Given the description of an element on the screen output the (x, y) to click on. 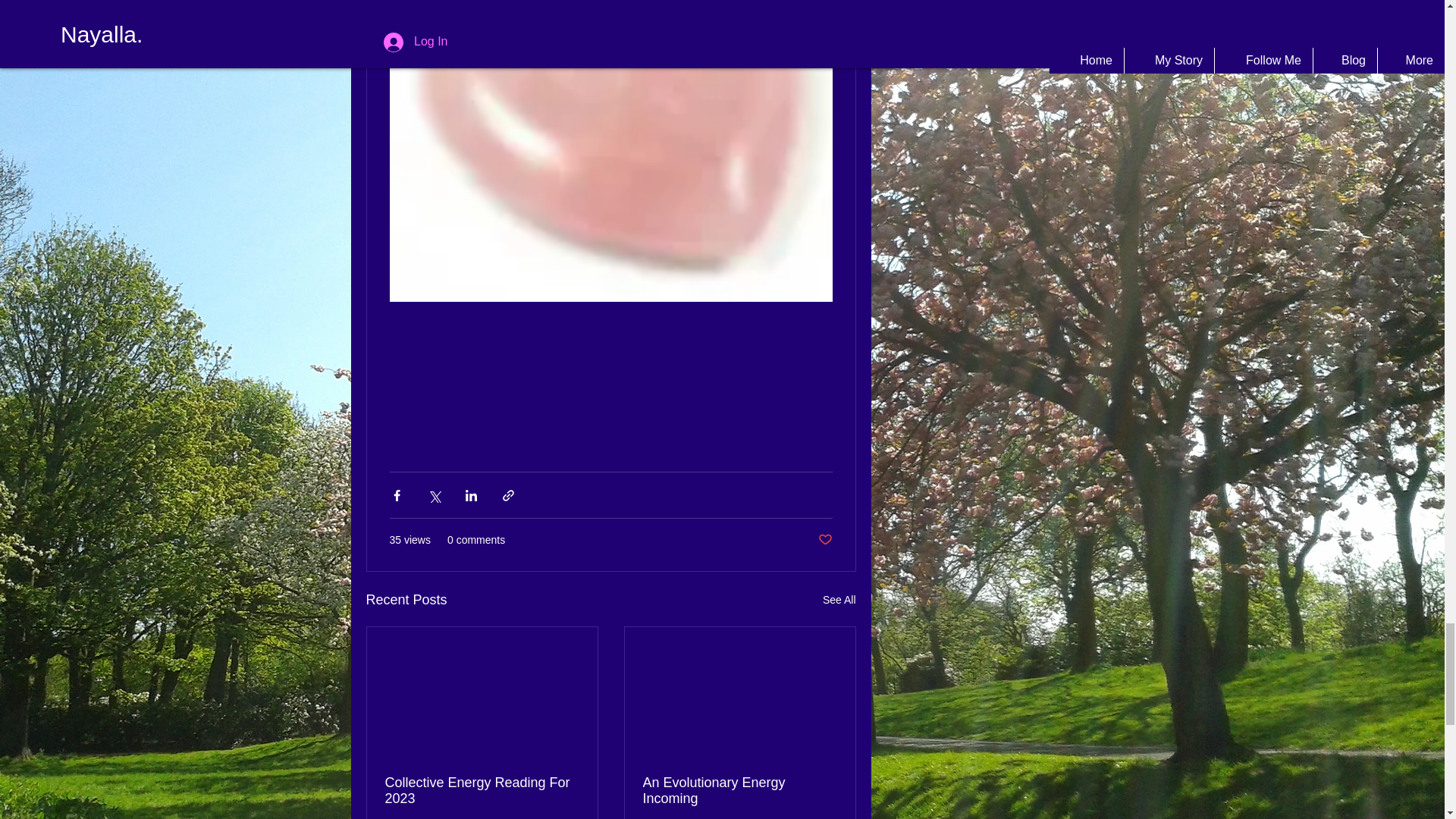
An Evolutionary Energy Incoming (740, 790)
Collective Energy Reading For 2023 (482, 790)
Post not marked as liked (823, 539)
See All (839, 599)
